Given the description of an element on the screen output the (x, y) to click on. 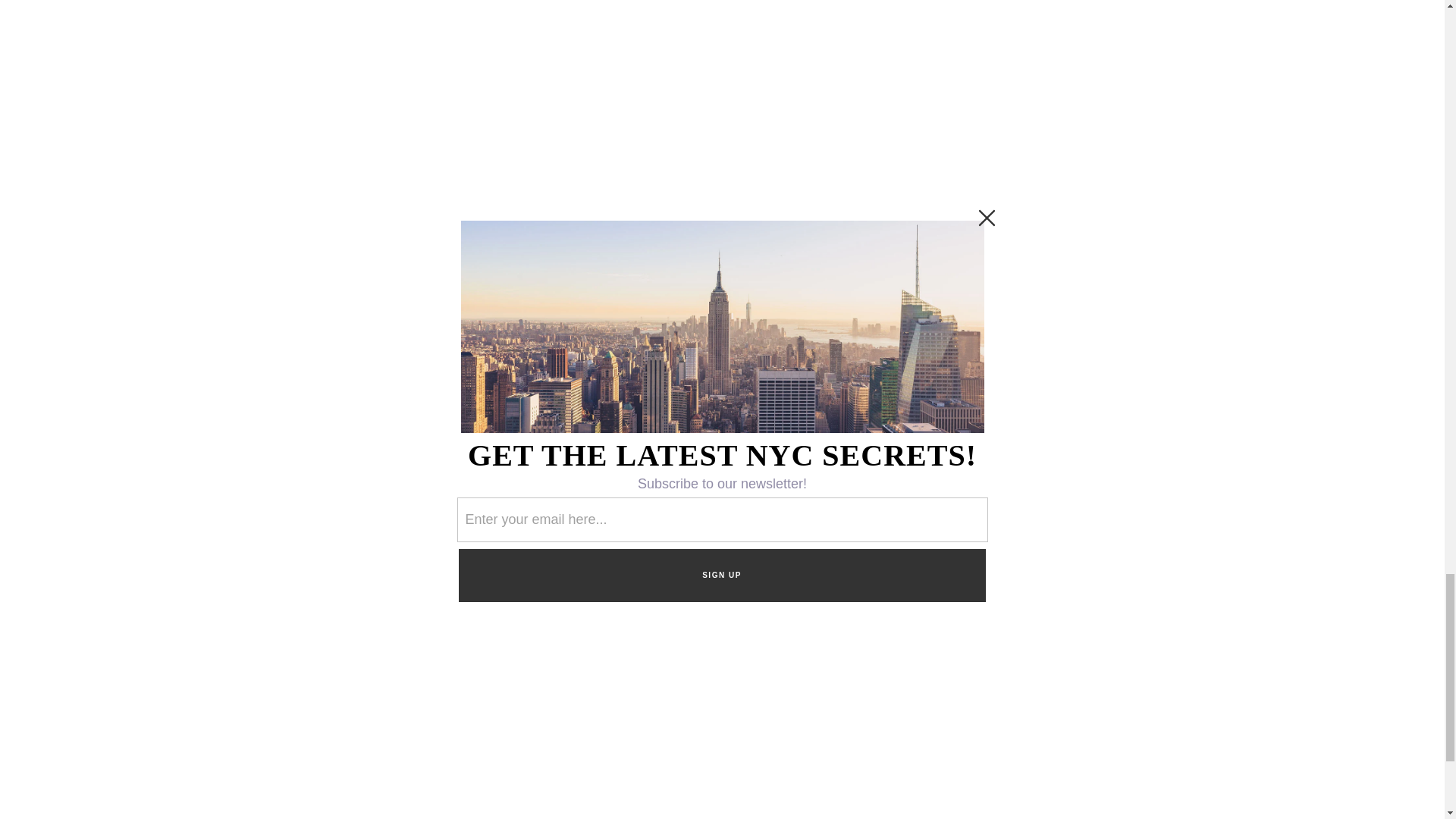
Sign up (1023, 549)
e99a09560c (984, 507)
7cff6a70fd (1024, 507)
